Given the description of an element on the screen output the (x, y) to click on. 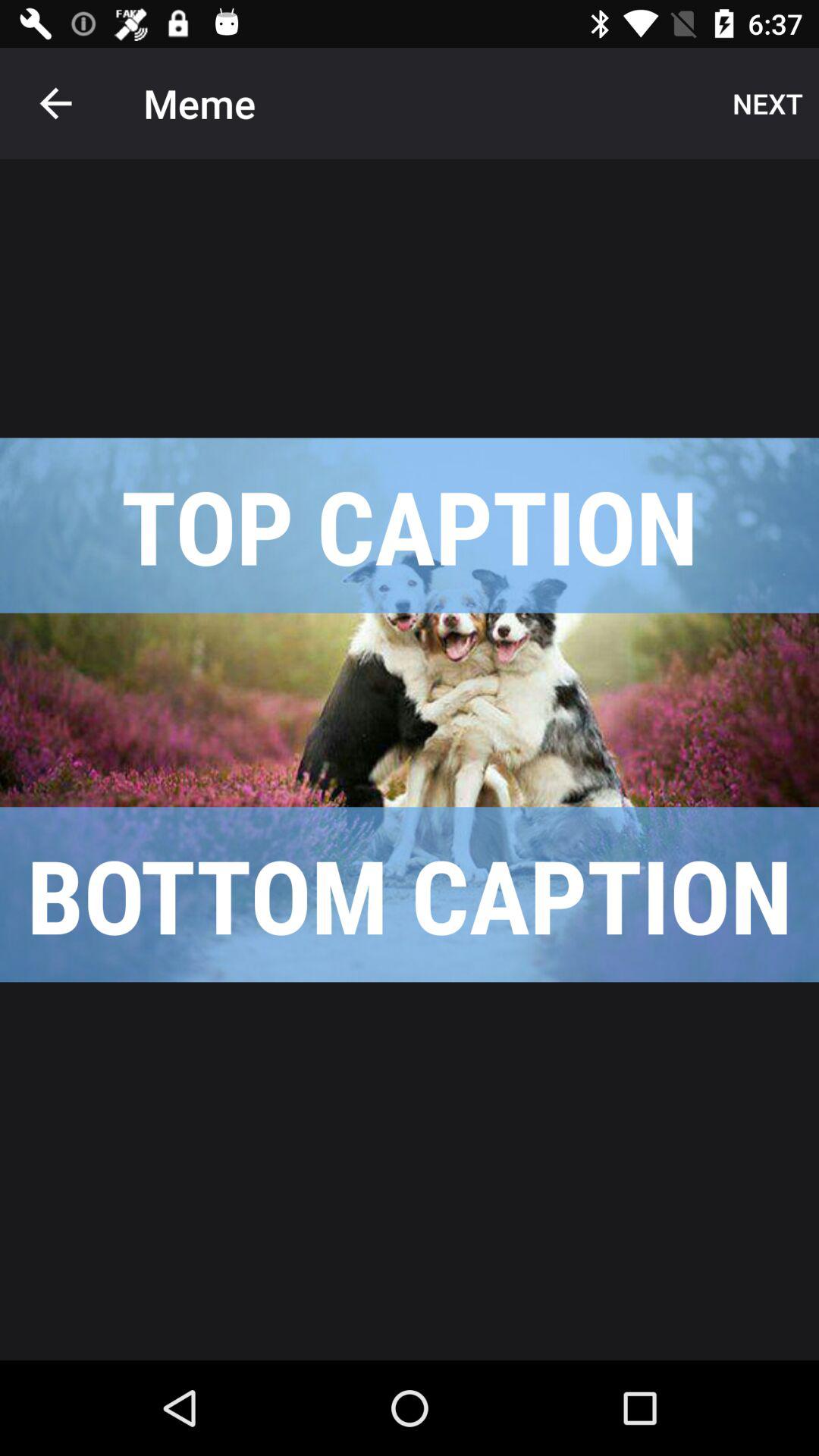
advertisement (409, 709)
